Given the description of an element on the screen output the (x, y) to click on. 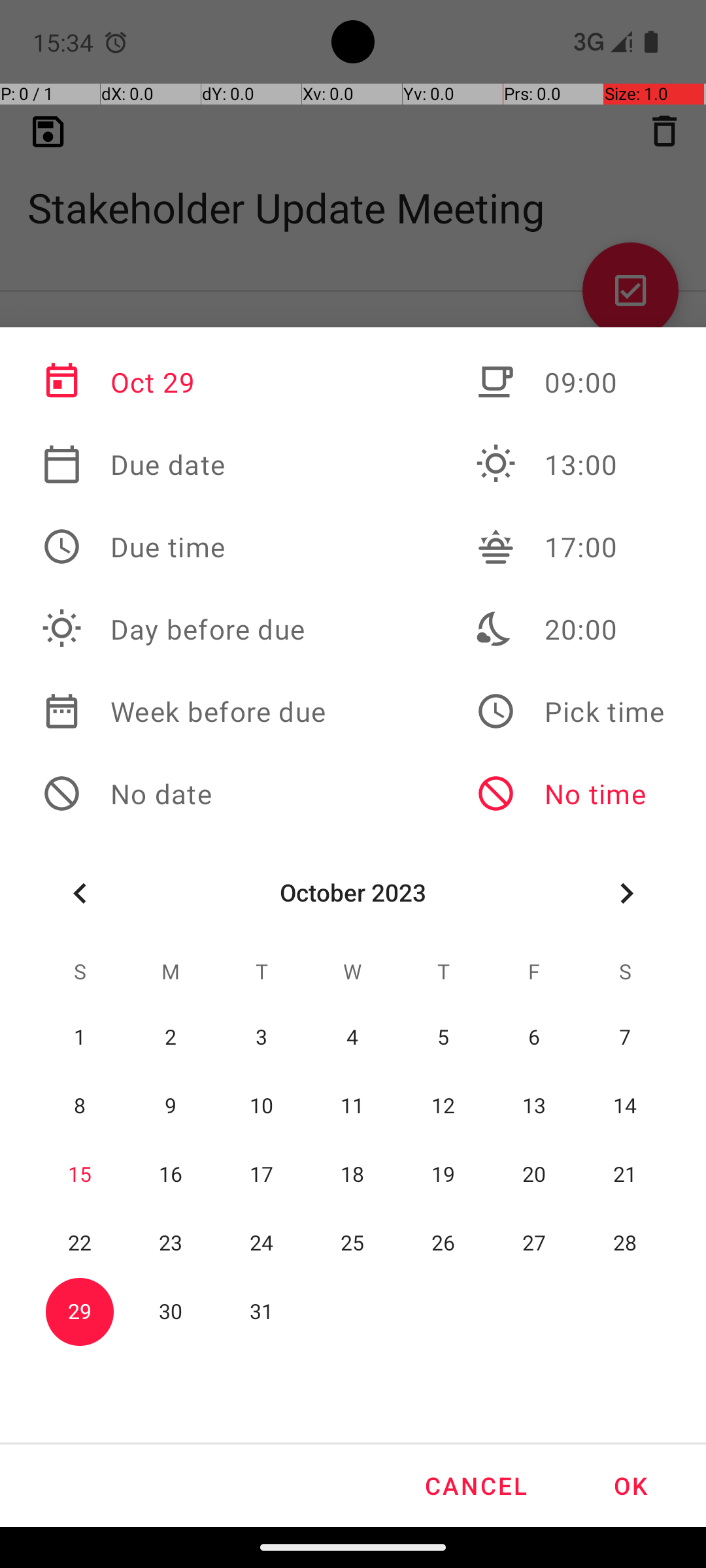
Oct 29 Element type: android.widget.CompoundButton (183, 382)
